Given the description of an element on the screen output the (x, y) to click on. 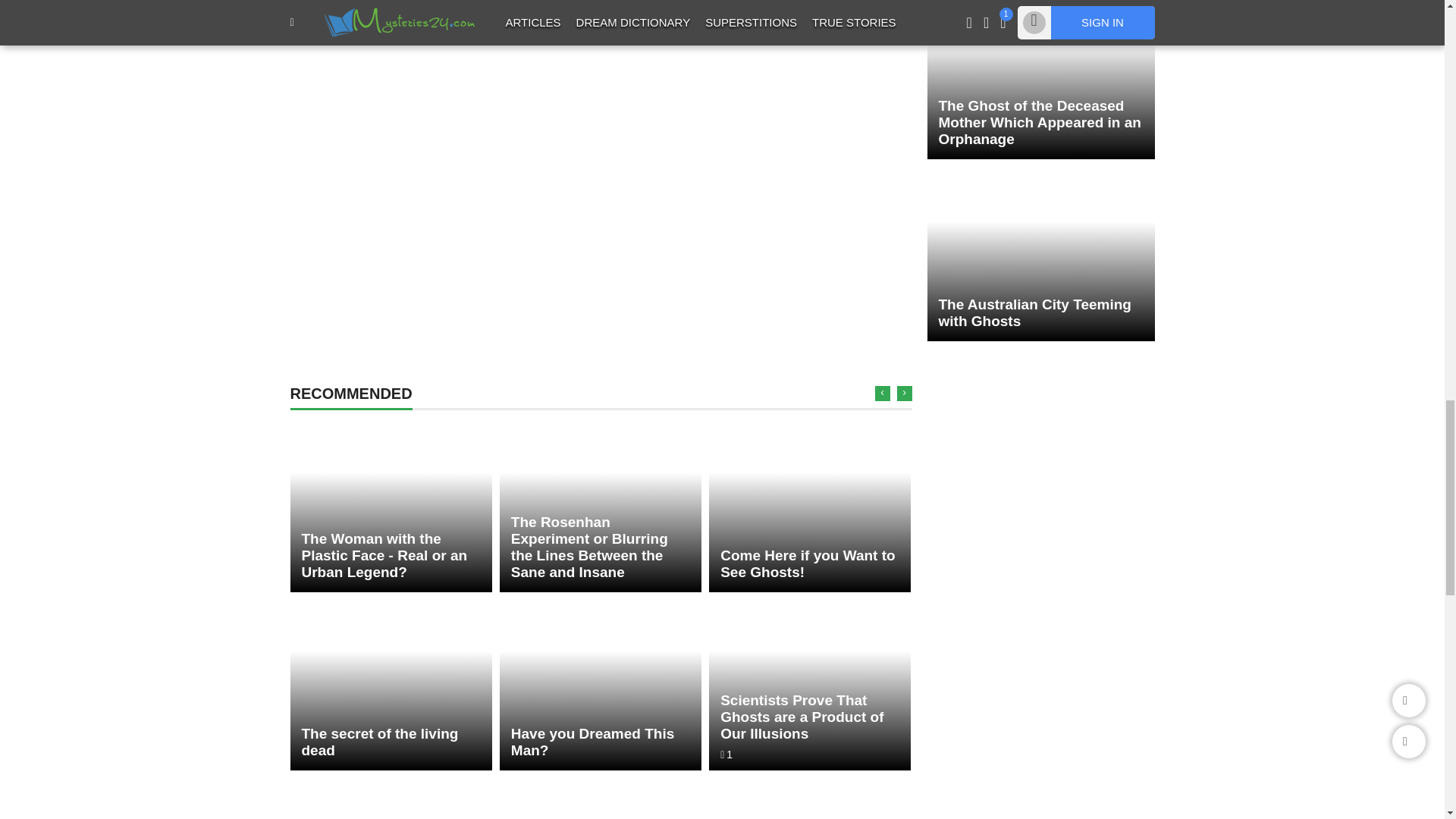
Little Girl Comes Back to Life at her Own Funeral (600, 798)
The secret of the living dead (390, 684)
Have you Dreamed This Man? (600, 684)
Scientists Prove That Ghosts are a Product of Our Illusions (810, 684)
Come Here if you Want to See Ghosts! (810, 506)
The Woman with the Plastic Face - Real or an Urban Legend? (390, 506)
The Australian City Teeming with Ghosts (1040, 255)
